Given the description of an element on the screen output the (x, y) to click on. 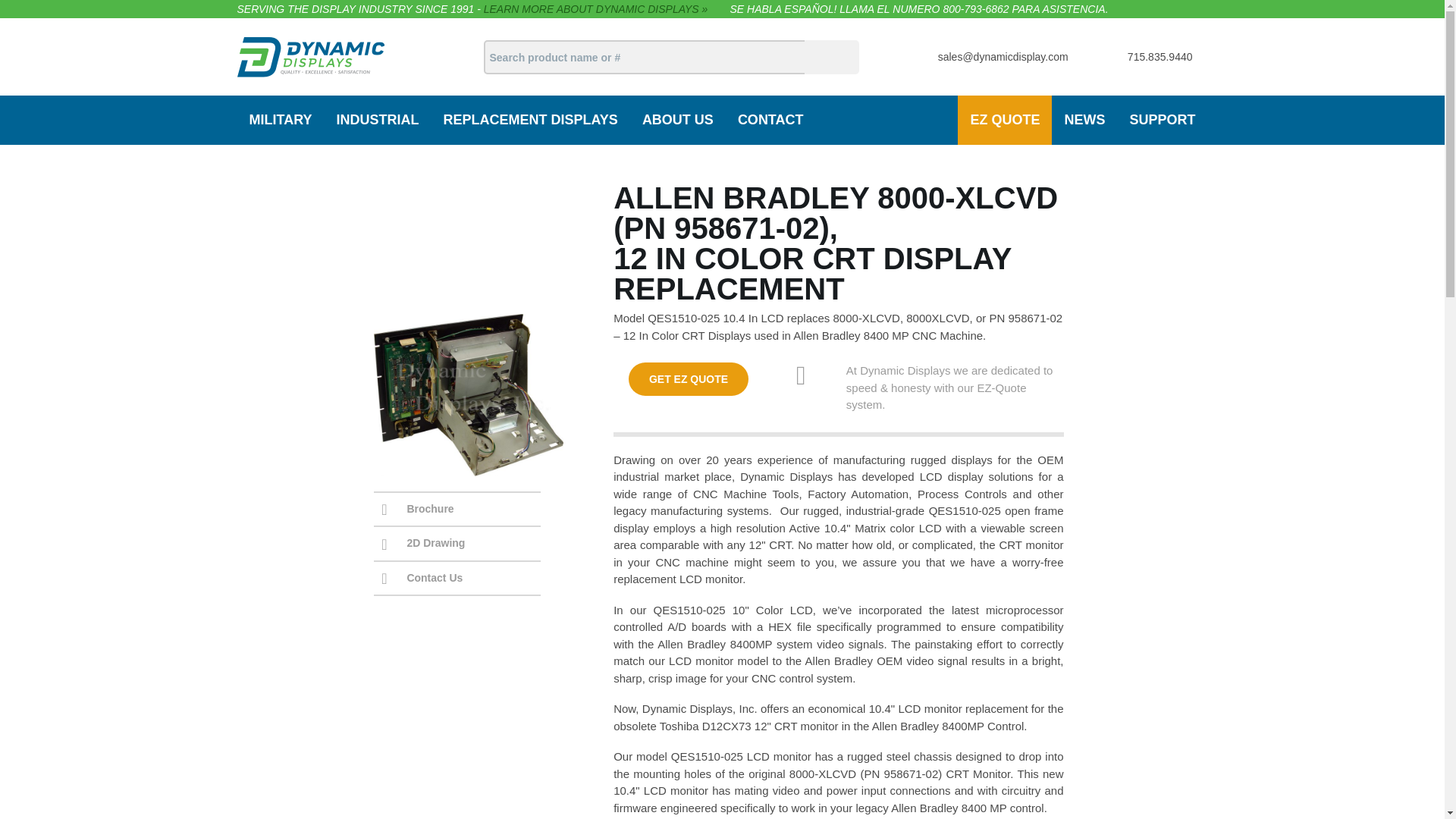
12" ALLEN BRADLEY 8400MP CRT MONITORS (485, 247)
715.835.9440 (1159, 56)
CONTACT (770, 119)
Phone Number (1159, 56)
SUPPORT (1161, 119)
Email Us (1002, 56)
MILITARY (279, 119)
Learn More about Dynamic Displays (595, 9)
LEARN MORE ABOUT DYNAMIC DISPLAYS (595, 9)
10-inch Allen Bradley 8400MP Retrofit LCD (467, 247)
Dynamic Displays (309, 56)
INDUSTRIAL (377, 119)
NEWS (1083, 119)
REPLACEMENT DISPLAYS (529, 119)
GET EZ QUOTE (688, 378)
